Given the description of an element on the screen output the (x, y) to click on. 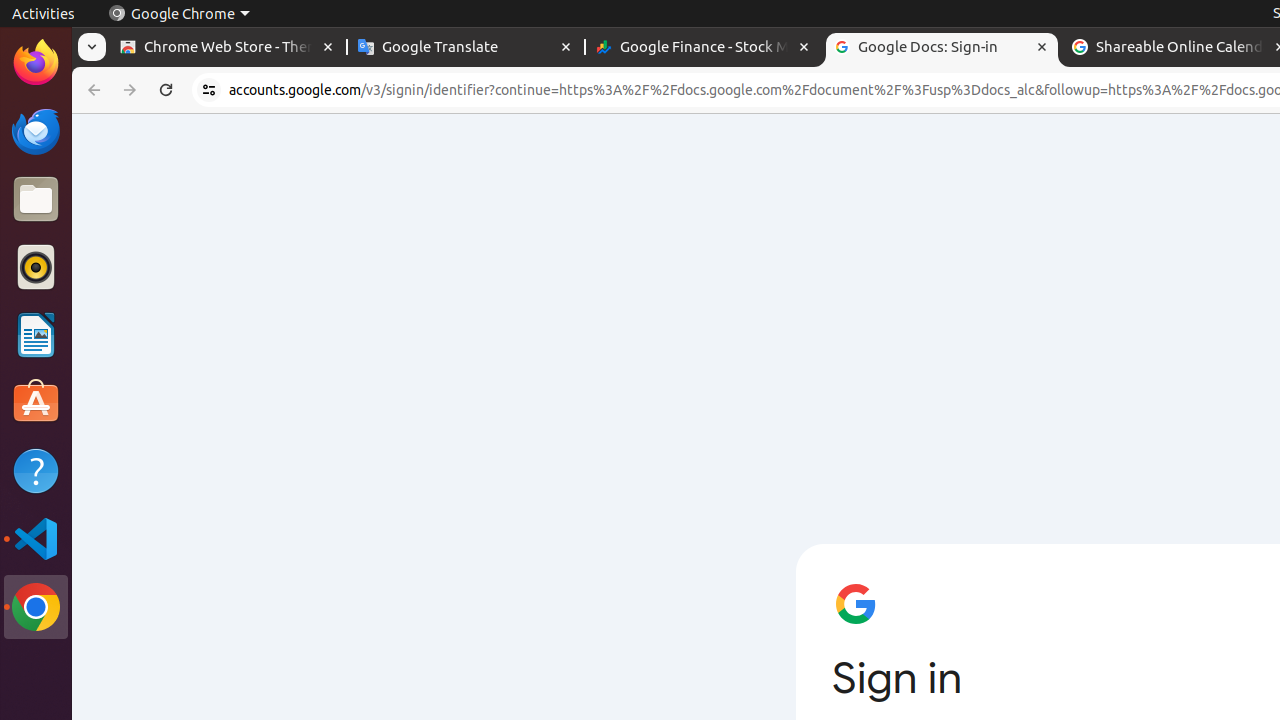
Ubuntu Software Element type: push-button (36, 402)
Reload Element type: push-button (166, 90)
Google Chrome Element type: menu (179, 13)
Google Docs: Sign-in Element type: page-tab (942, 47)
Google Translate - Memory usage - 77.6 MB Element type: page-tab (466, 47)
